Given the description of an element on the screen output the (x, y) to click on. 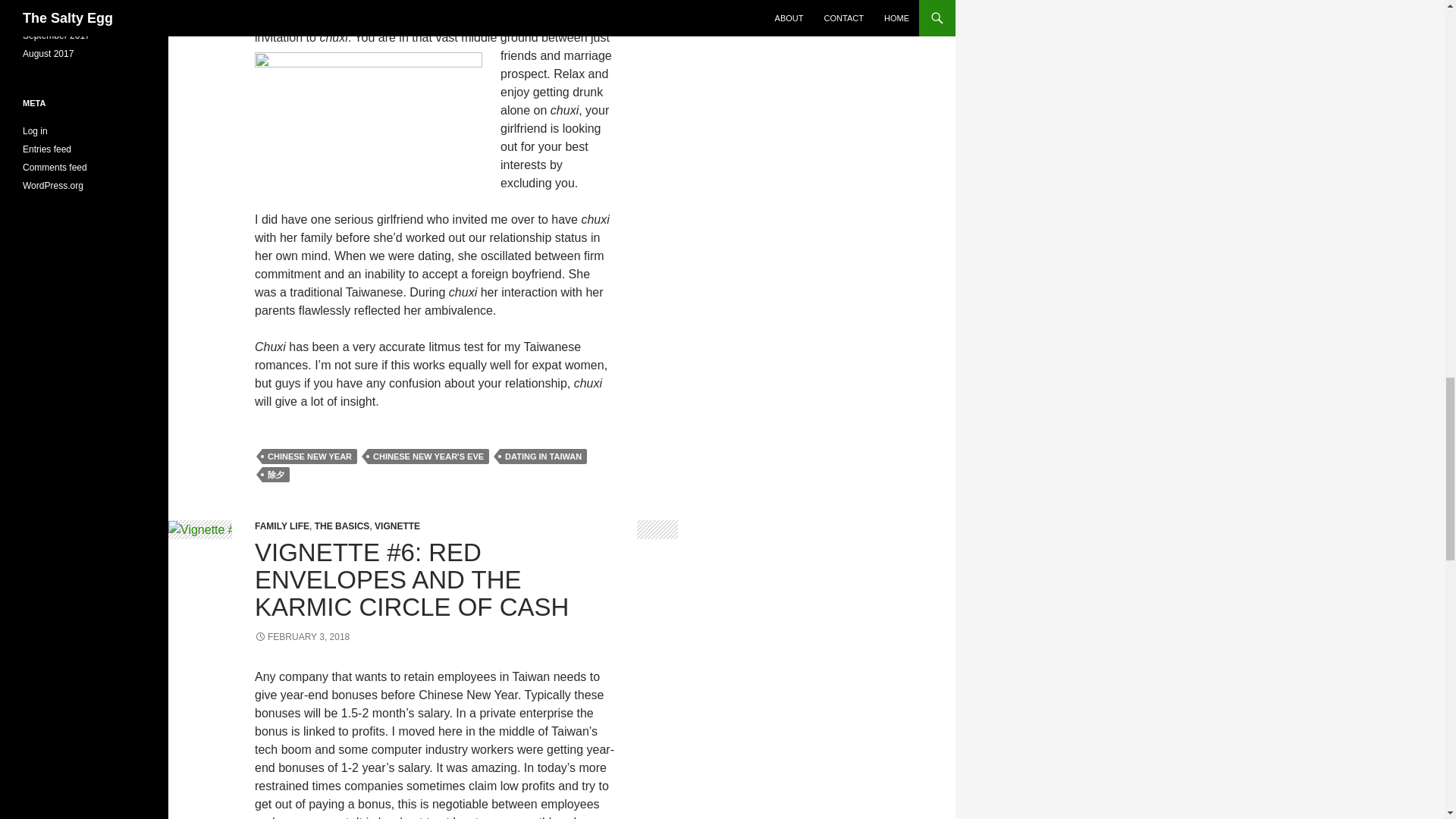
CHINESE NEW YEAR'S EVE (428, 456)
CHINESE NEW YEAR (309, 456)
FAMILY LIFE (281, 525)
FEBRUARY 3, 2018 (301, 636)
DATING IN TAIWAN (542, 456)
THE BASICS (341, 525)
VIGNETTE (397, 525)
